Given the description of an element on the screen output the (x, y) to click on. 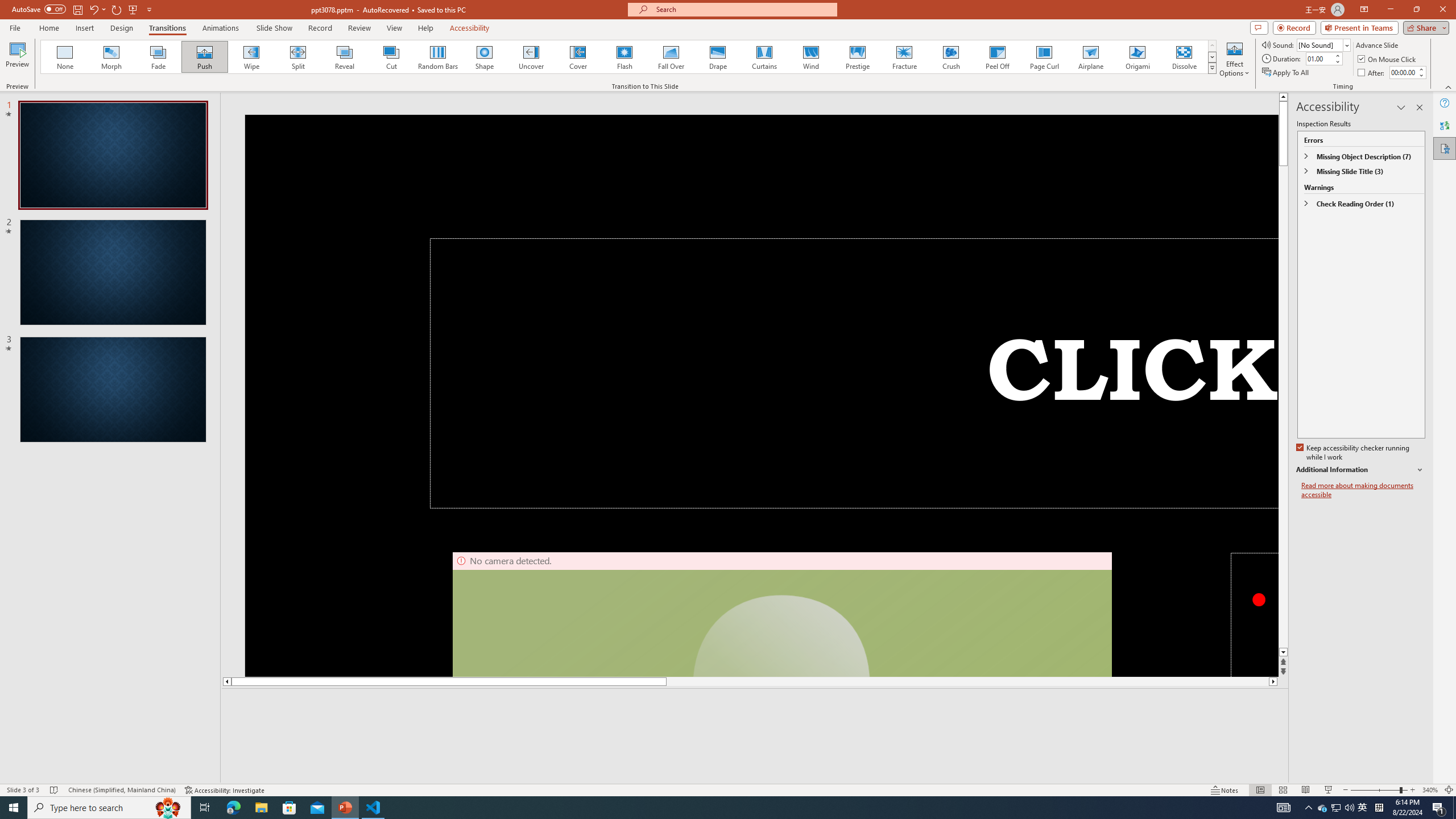
Peel Off (997, 56)
Close pane (1419, 107)
Open (1345, 44)
Row up (1212, 45)
After (1372, 72)
Wipe (251, 56)
After (1403, 72)
On Mouse Click (1387, 58)
